Given the description of an element on the screen output the (x, y) to click on. 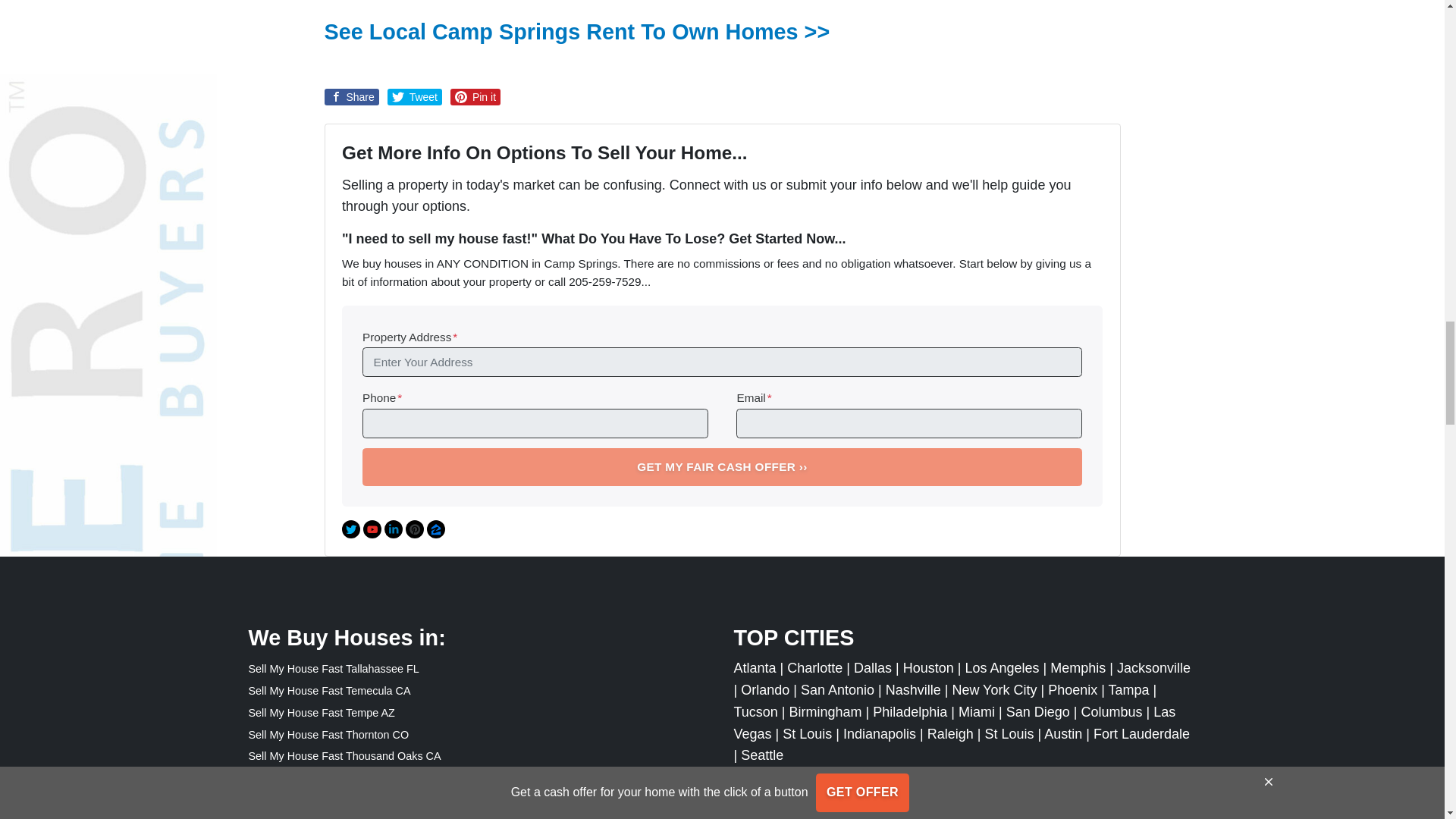
Sell My House Fast Tempe AZ (321, 712)
Share (351, 96)
Sell My House Fast Temecula CA (329, 690)
Share on Twitter (414, 96)
Share on Facebook (351, 96)
Twitter (350, 529)
YouTube (371, 529)
Tweet (414, 96)
LinkedIn (393, 529)
Sell My House Fast Tallahassee FL (333, 668)
Sell My House Fast Thornton CO (328, 734)
Share on Pinterest (474, 96)
Pin it (474, 96)
Zillow (435, 529)
Pinterest (414, 529)
